Given the description of an element on the screen output the (x, y) to click on. 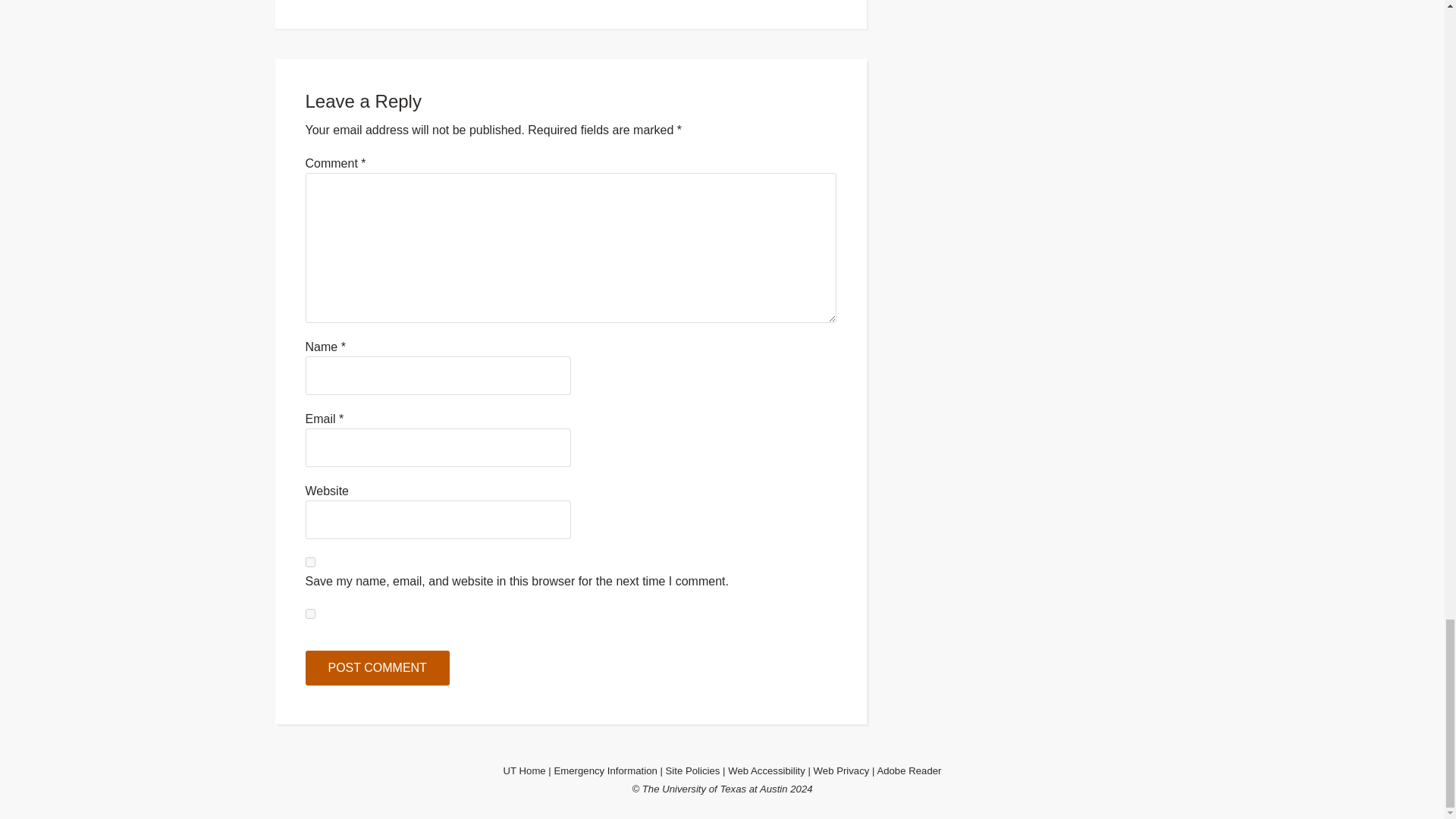
yes (309, 562)
yes (309, 614)
Web Privacy (841, 770)
Site Policies (692, 770)
Post Comment (376, 667)
Web Accessibility (766, 770)
UT Home (524, 770)
Adobe Reader (908, 770)
Post Comment (376, 667)
Emergency Information (604, 770)
